Given the description of an element on the screen output the (x, y) to click on. 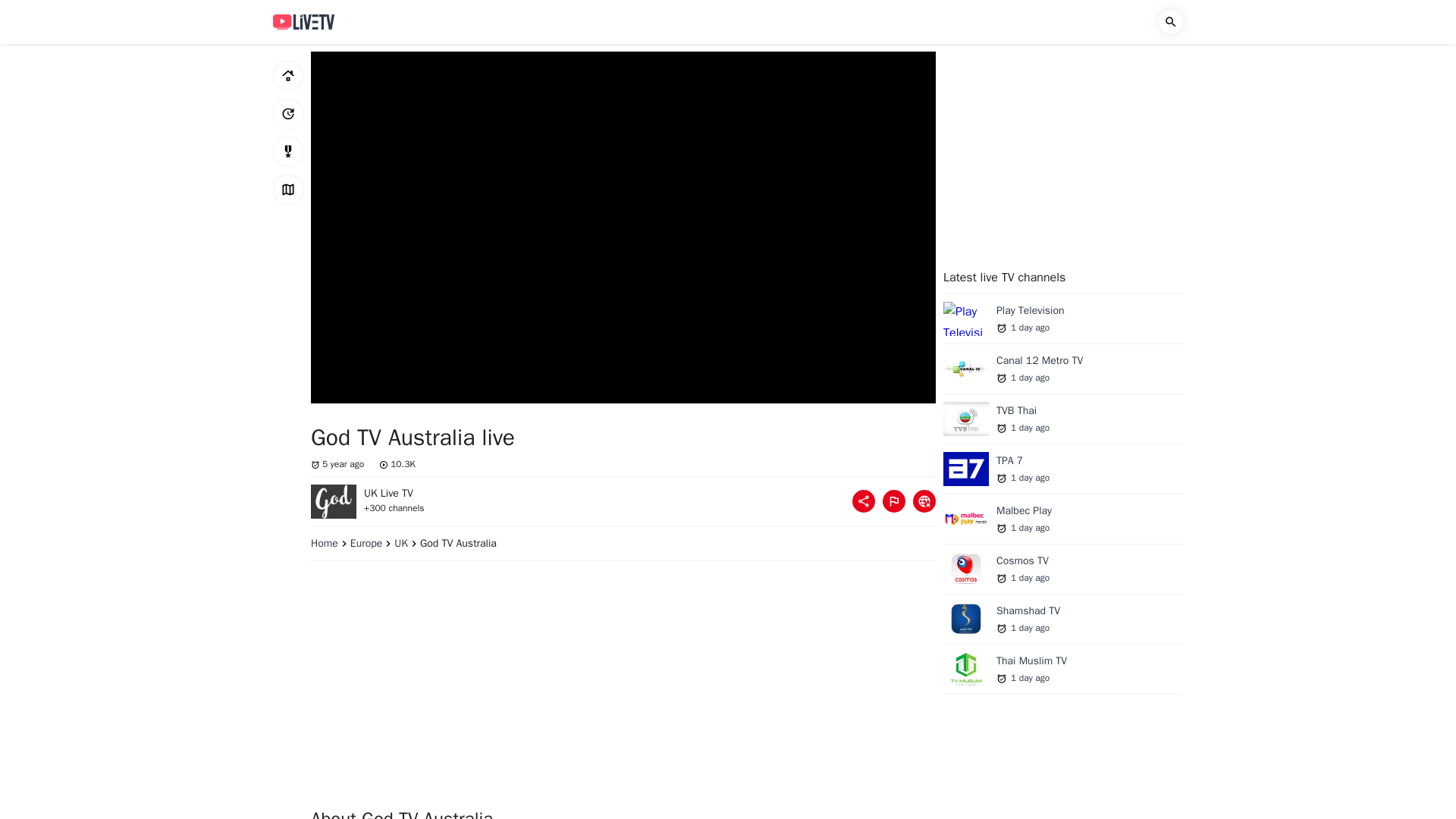
God TV Australia Live stream (333, 500)
Home (330, 543)
Resource Links (924, 500)
Home (330, 543)
Home (287, 75)
Share (863, 500)
Live TV channels: Live and Replay TV (303, 21)
Report Broken (893, 500)
Top live TV channels (287, 151)
Europe (372, 543)
UK (407, 543)
Latest live TV channels (287, 113)
